Given the description of an element on the screen output the (x, y) to click on. 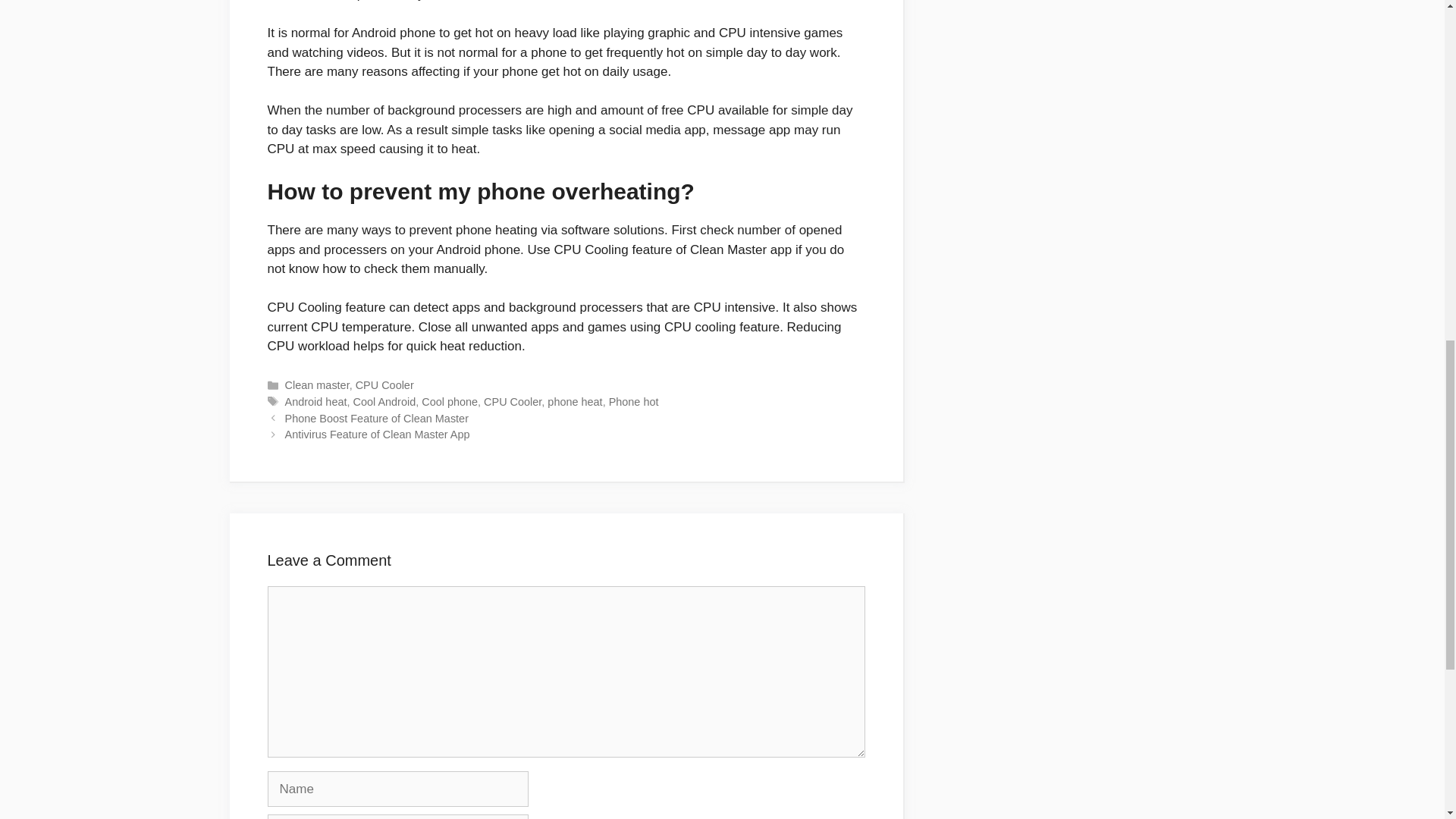
Clean master (317, 385)
Cool Android (384, 401)
phone heat (574, 401)
Phone Boost Feature of Clean Master (376, 418)
Phone hot (633, 401)
Cool phone (449, 401)
Android heat (316, 401)
CPU Cooler (384, 385)
Antivirus Feature of Clean Master App (377, 434)
CPU Cooler (512, 401)
